Given the description of an element on the screen output the (x, y) to click on. 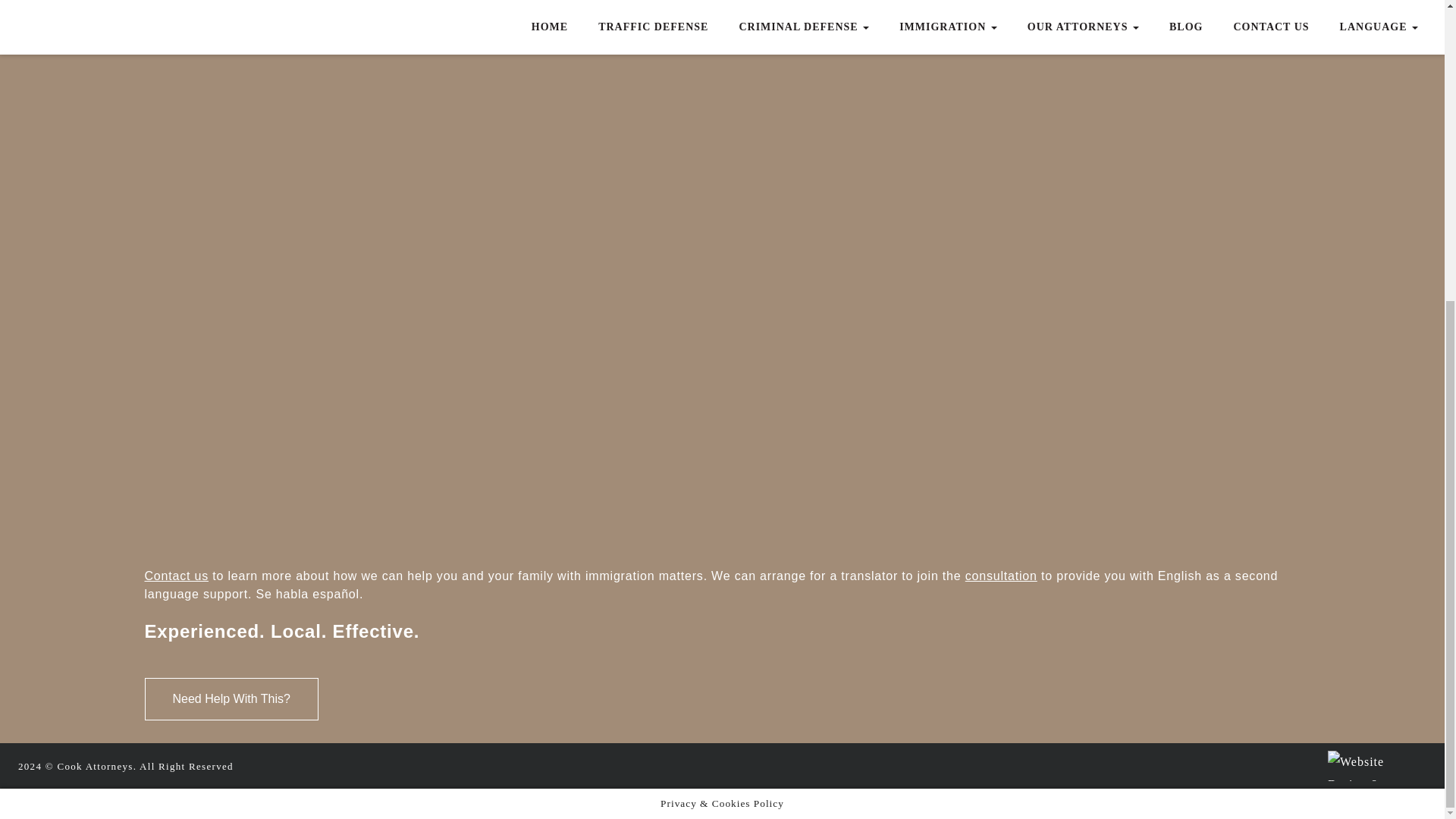
Contact us (176, 575)
Need Help With This? (230, 699)
consultation (1000, 575)
